Given the description of an element on the screen output the (x, y) to click on. 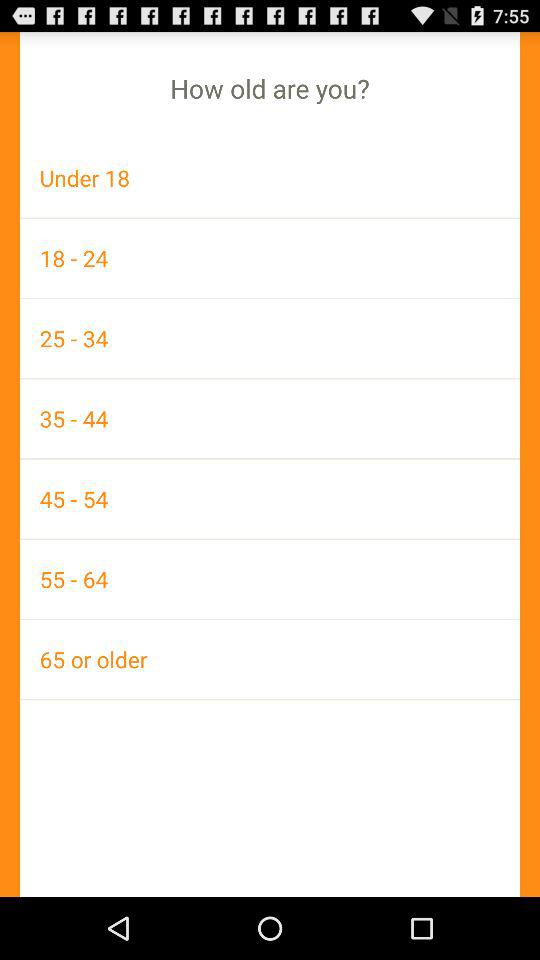
turn off the 65 or older app (269, 659)
